Given the description of an element on the screen output the (x, y) to click on. 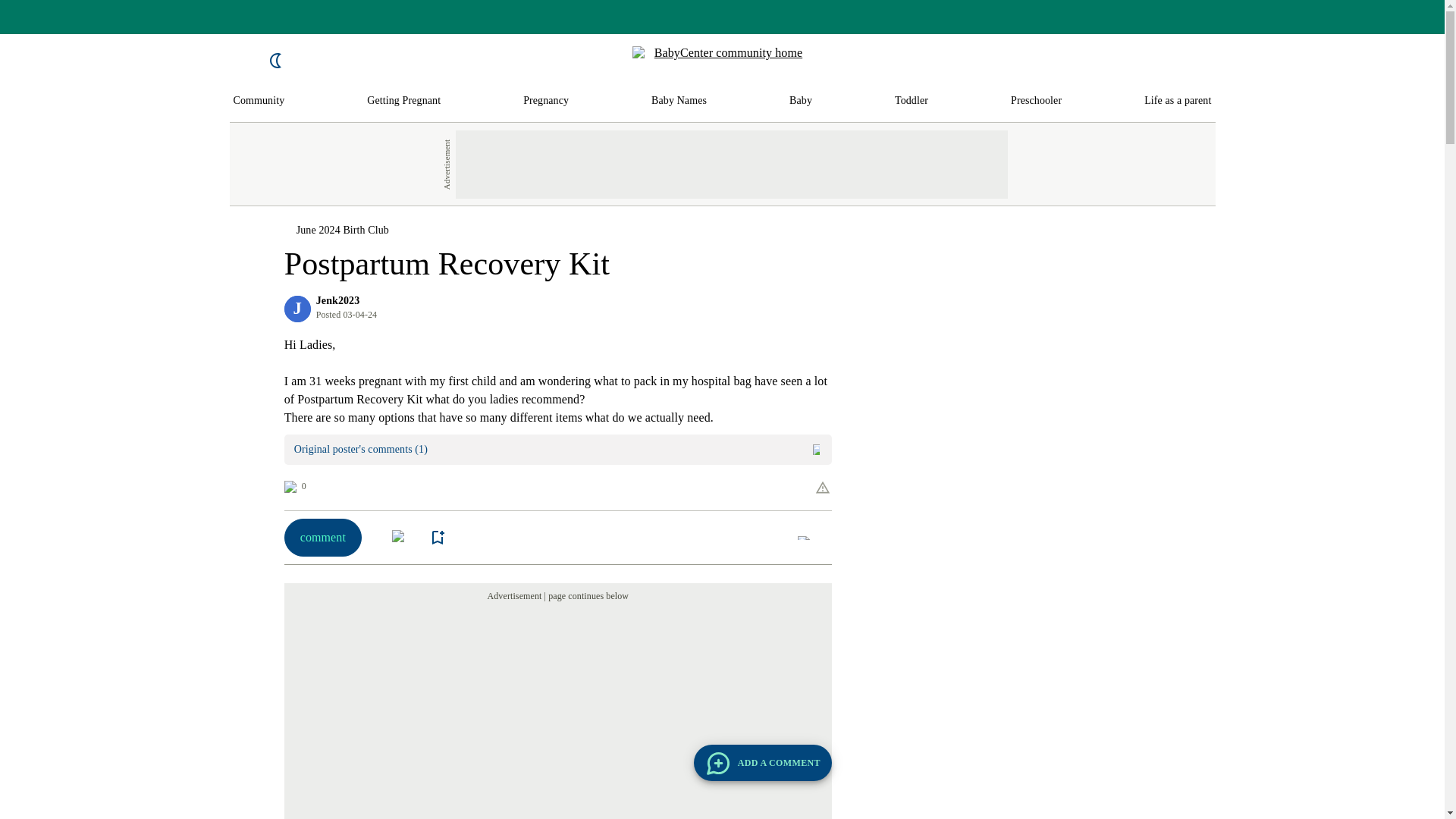
Getting Pregnant (403, 101)
Life as a parent (1177, 101)
Toddler (911, 101)
Baby (800, 101)
Pregnancy (545, 101)
Preschooler (1035, 101)
Community (258, 101)
Baby Names (678, 101)
